Given the description of an element on the screen output the (x, y) to click on. 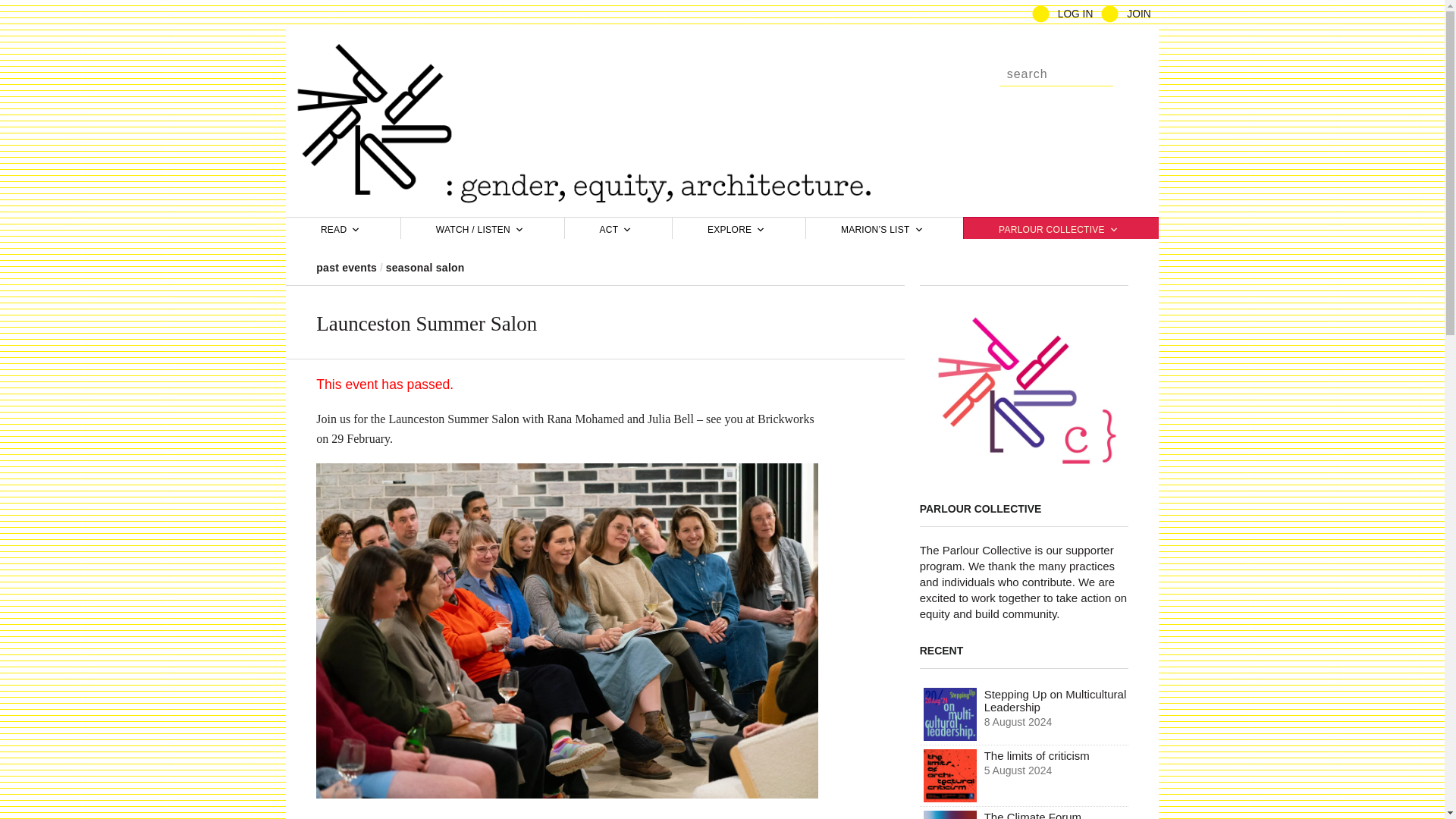
LOG IN (1075, 13)
JOIN (1138, 13)
ACT (617, 228)
READ (342, 228)
Search (1055, 72)
